Given the description of an element on the screen output the (x, y) to click on. 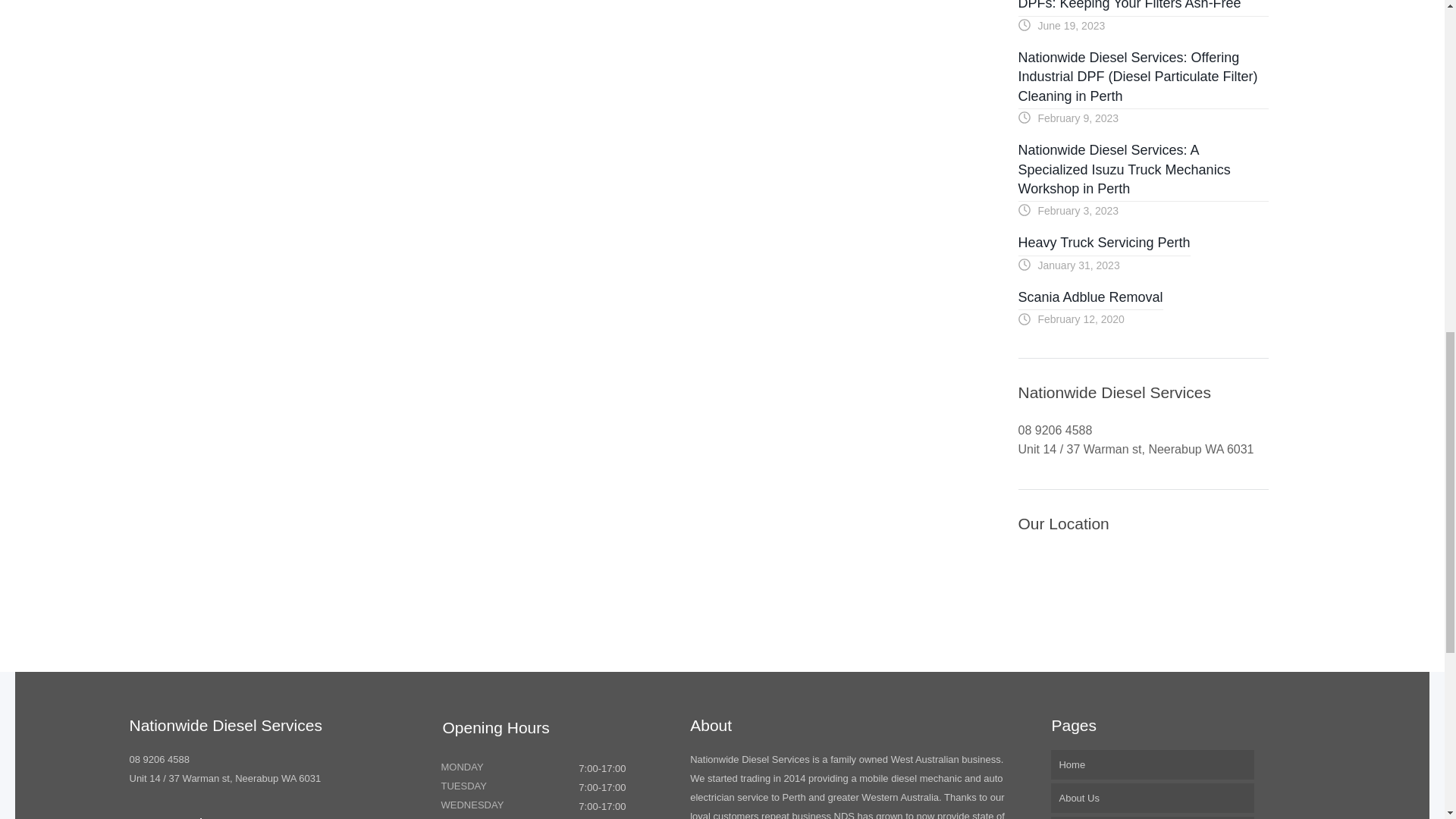
Home (1152, 764)
Heavy Truck Servicing Perth (1103, 244)
About Us (1152, 797)
Our Services (1152, 817)
Scania Adblue Removal (1089, 299)
08 9206 4588 (159, 758)
